Given the description of an element on the screen output the (x, y) to click on. 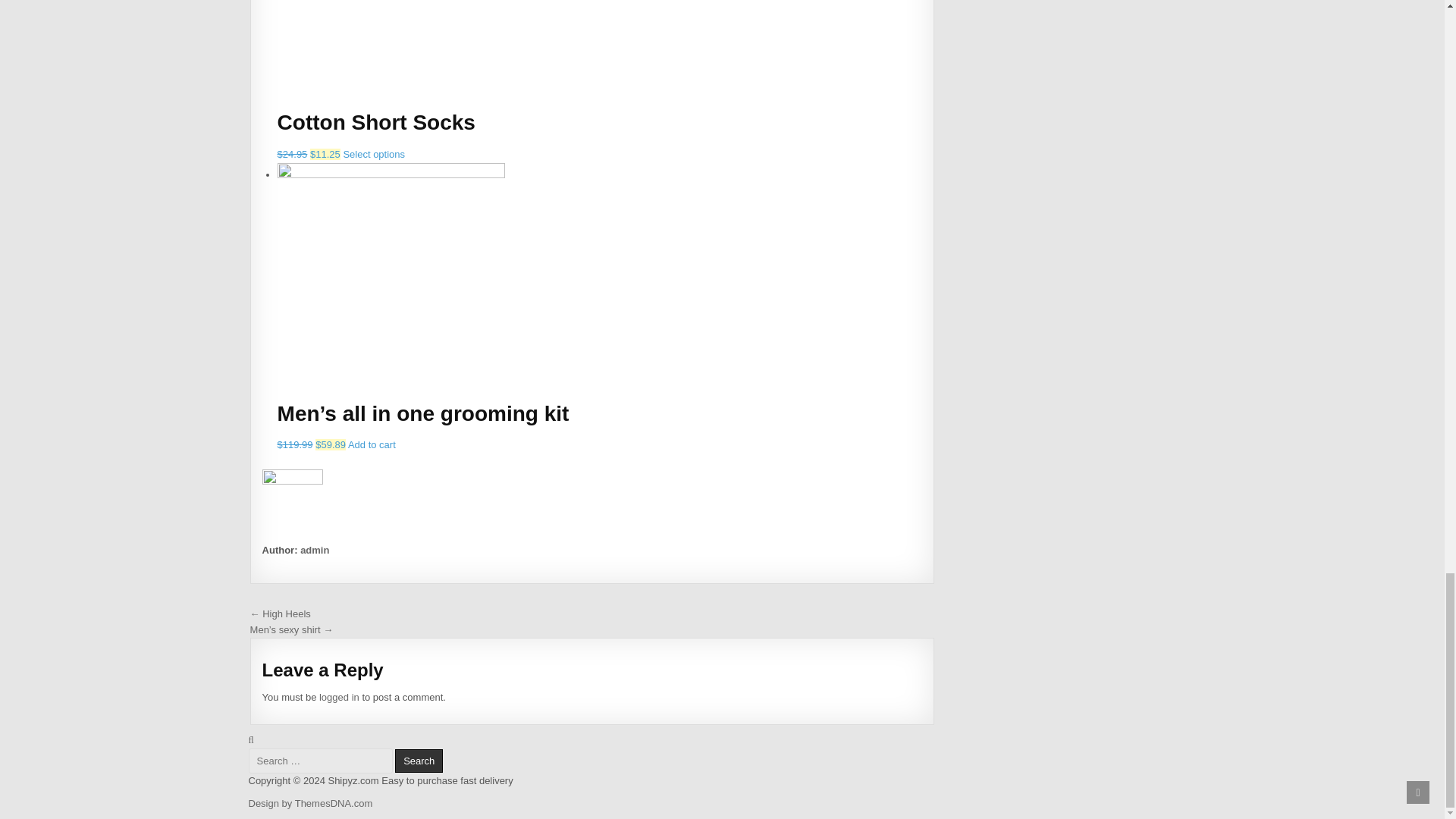
Add to cart (371, 444)
logged in (338, 696)
Search (418, 761)
admin (314, 550)
Select options (373, 153)
Search (418, 761)
